Given the description of an element on the screen output the (x, y) to click on. 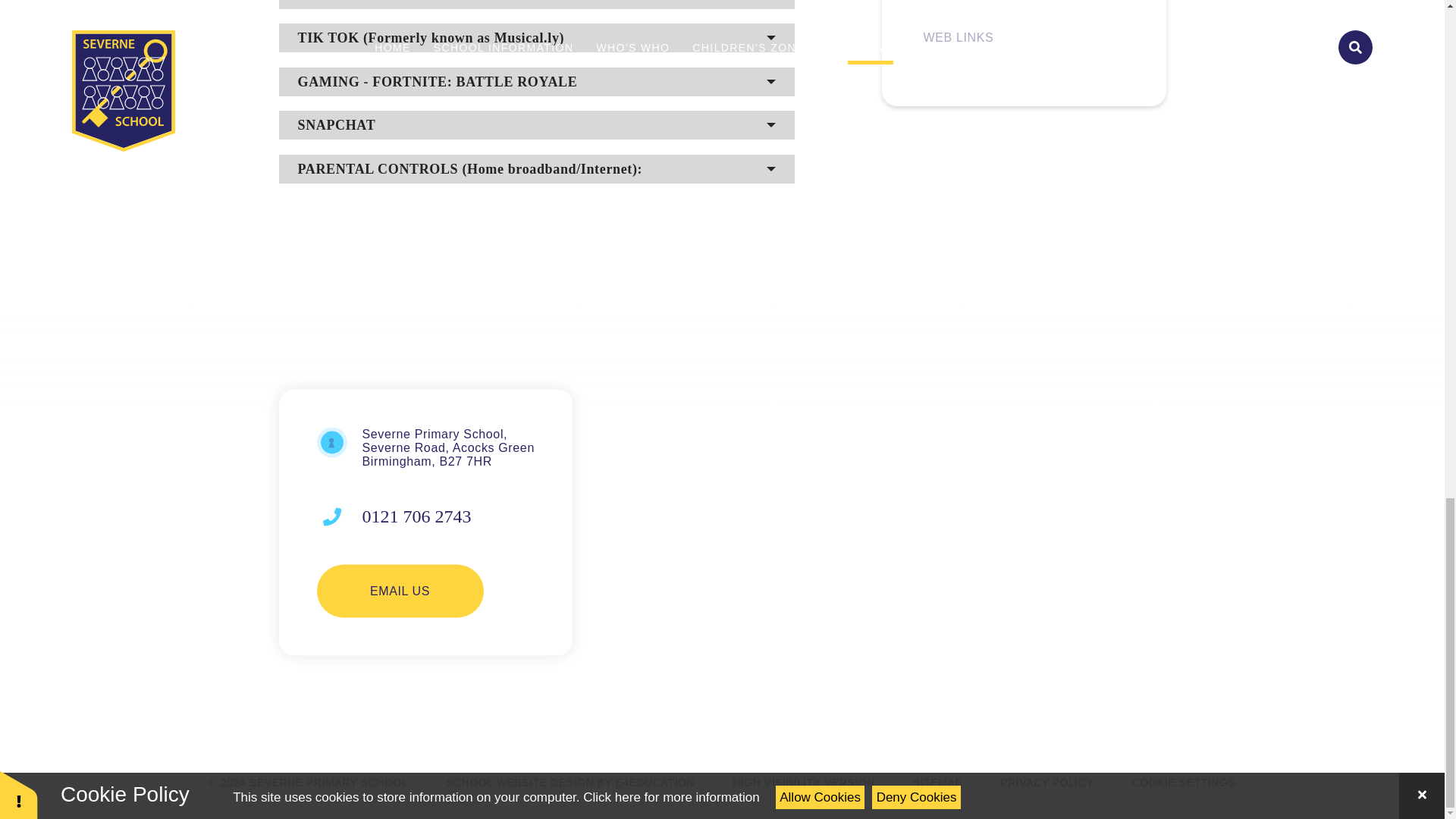
Cookie Settings (1184, 782)
